Given the description of an element on the screen output the (x, y) to click on. 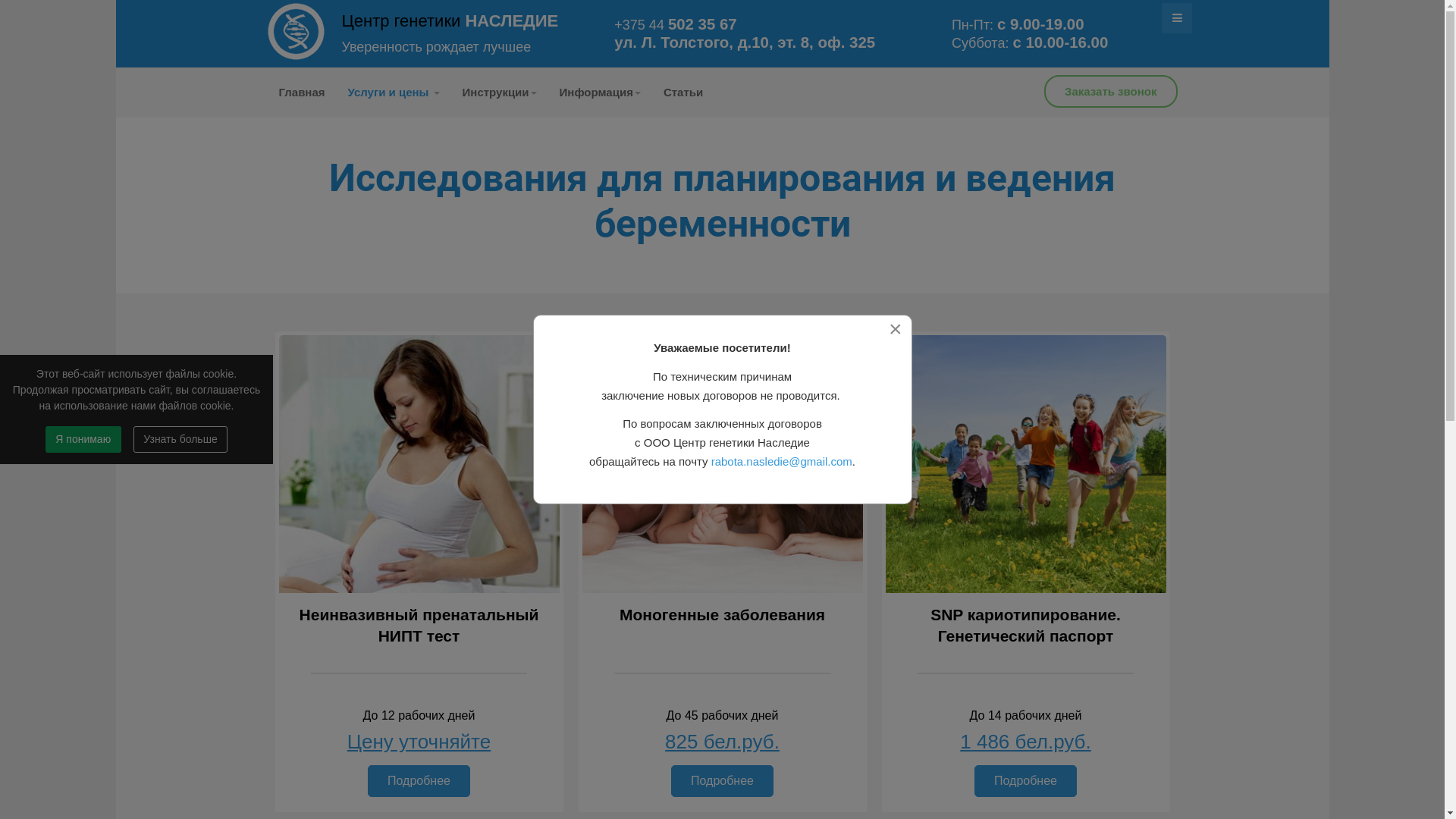
+375 44 502 35 67 Element type: text (675, 24)
rabota.nasledie@gmail.com Element type: text (781, 461)
